Given the description of an element on the screen output the (x, y) to click on. 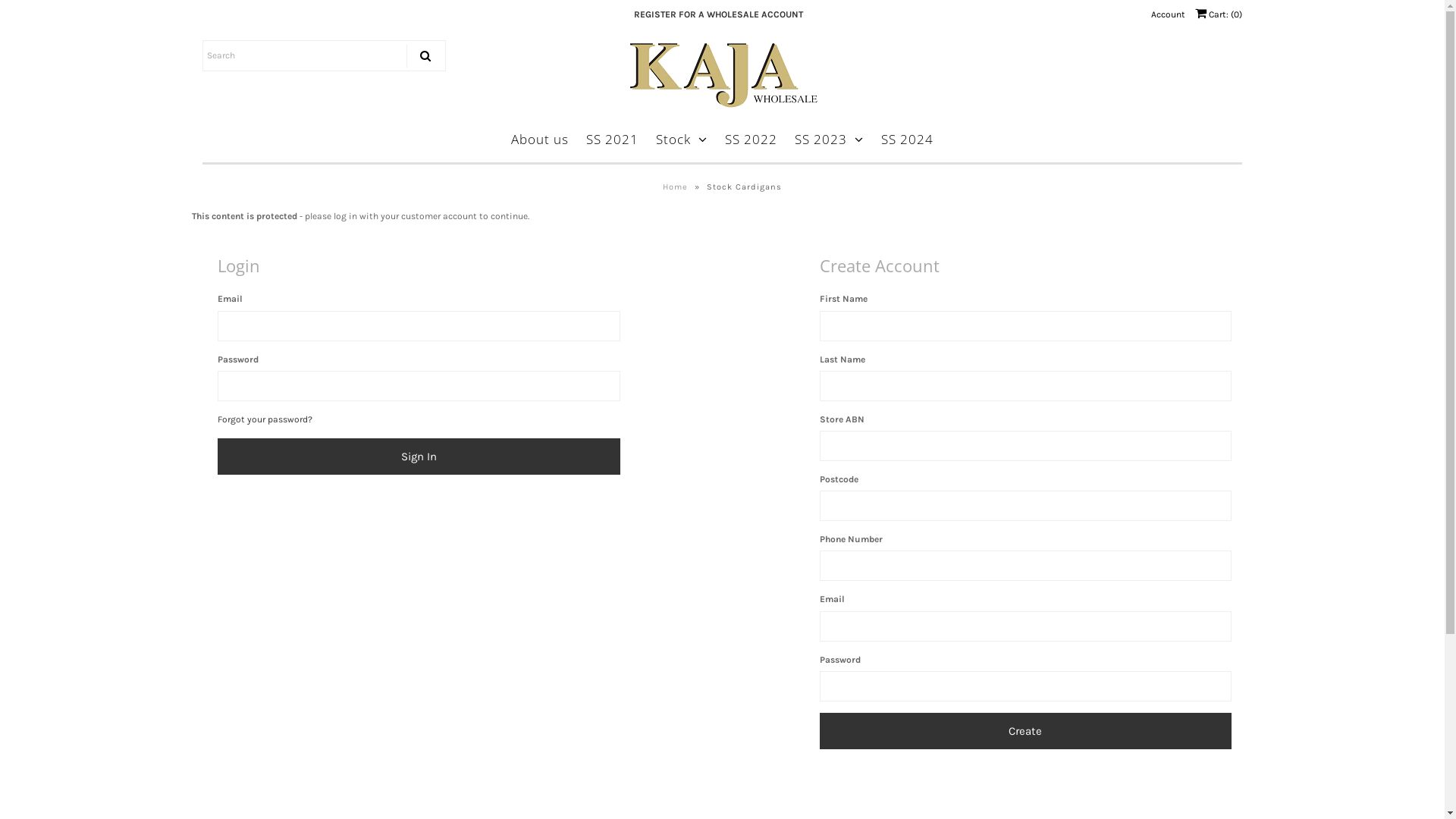
Sign In Element type: text (418, 456)
SS 2023 Element type: text (829, 139)
SS 2022 Element type: text (750, 139)
Create Element type: text (1025, 730)
About us Element type: text (539, 139)
Home Element type: text (676, 186)
Stock Element type: text (681, 139)
Cart: (0) Element type: text (1218, 14)
Account Element type: text (1168, 14)
SS 2024 Element type: text (907, 139)
SS 2021 Element type: text (612, 139)
REGISTER FOR A WHOLESALE ACCOUNT    Element type: text (721, 14)
Forgot your password? Element type: text (264, 419)
